Given the description of an element on the screen output the (x, y) to click on. 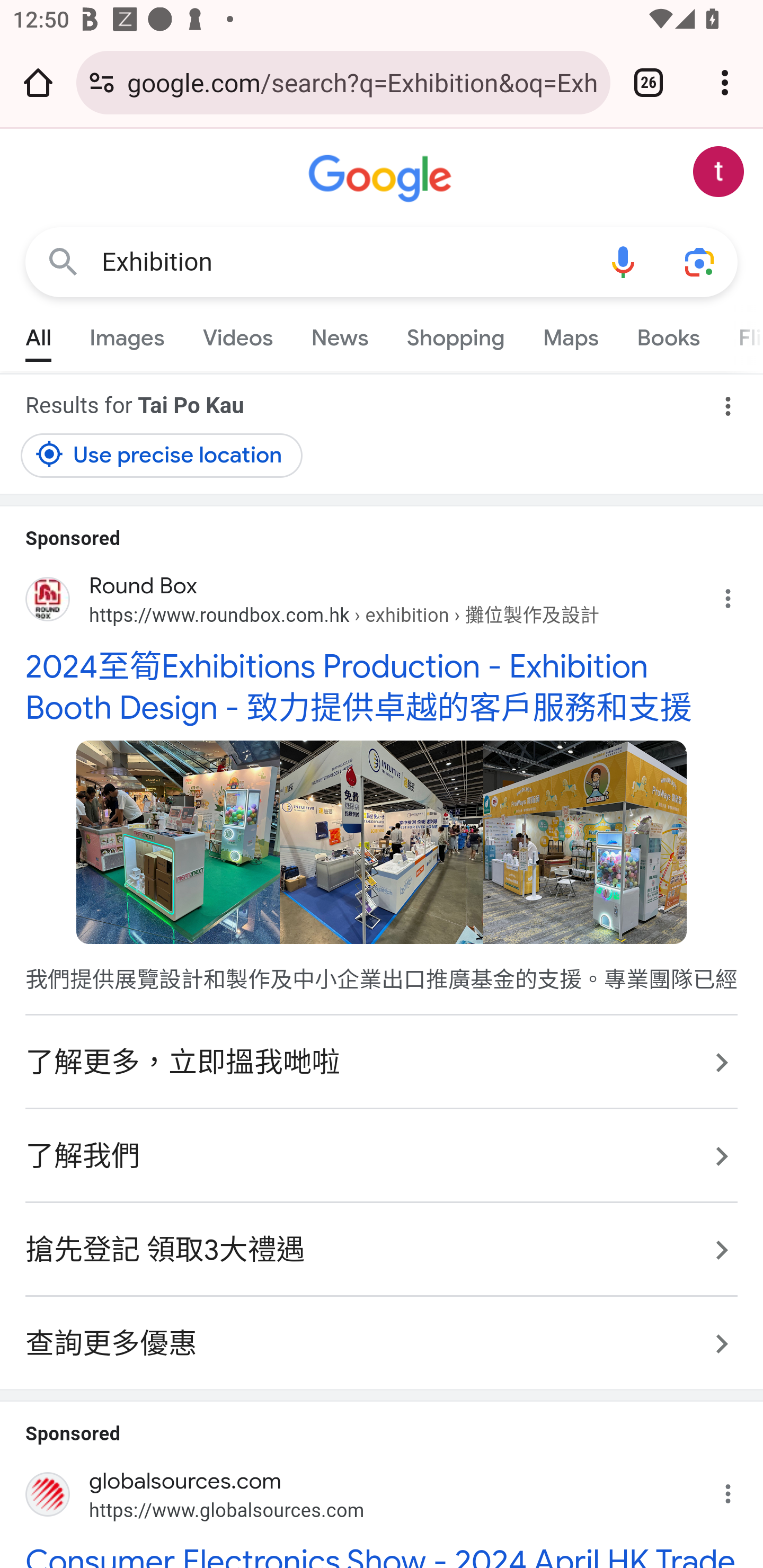
Open the home page (38, 82)
Connection is secure (101, 82)
Switch or close tabs (648, 82)
Customize and control Google Chrome (724, 82)
Google (381, 179)
Google Search (63, 262)
Search using your camera or photos (699, 262)
Exhibition (343, 261)
Images (127, 333)
Videos (237, 333)
News (338, 333)
Shopping (455, 333)
Maps (570, 333)
Books (668, 333)
Use precise location (161, 455)
Why this ad? (738, 594)
Image from roundbox.com.hk (178, 840)
Image from roundbox.com.hk (381, 840)
Image from roundbox.com.hk (584, 840)
了解更多，立即搵我哋啦 (381, 1062)
了解我們 (381, 1155)
搶先登記 領取3大禮遇 (381, 1249)
查詢更多優惠 (381, 1334)
Why this ad? (738, 1488)
